Given the description of an element on the screen output the (x, y) to click on. 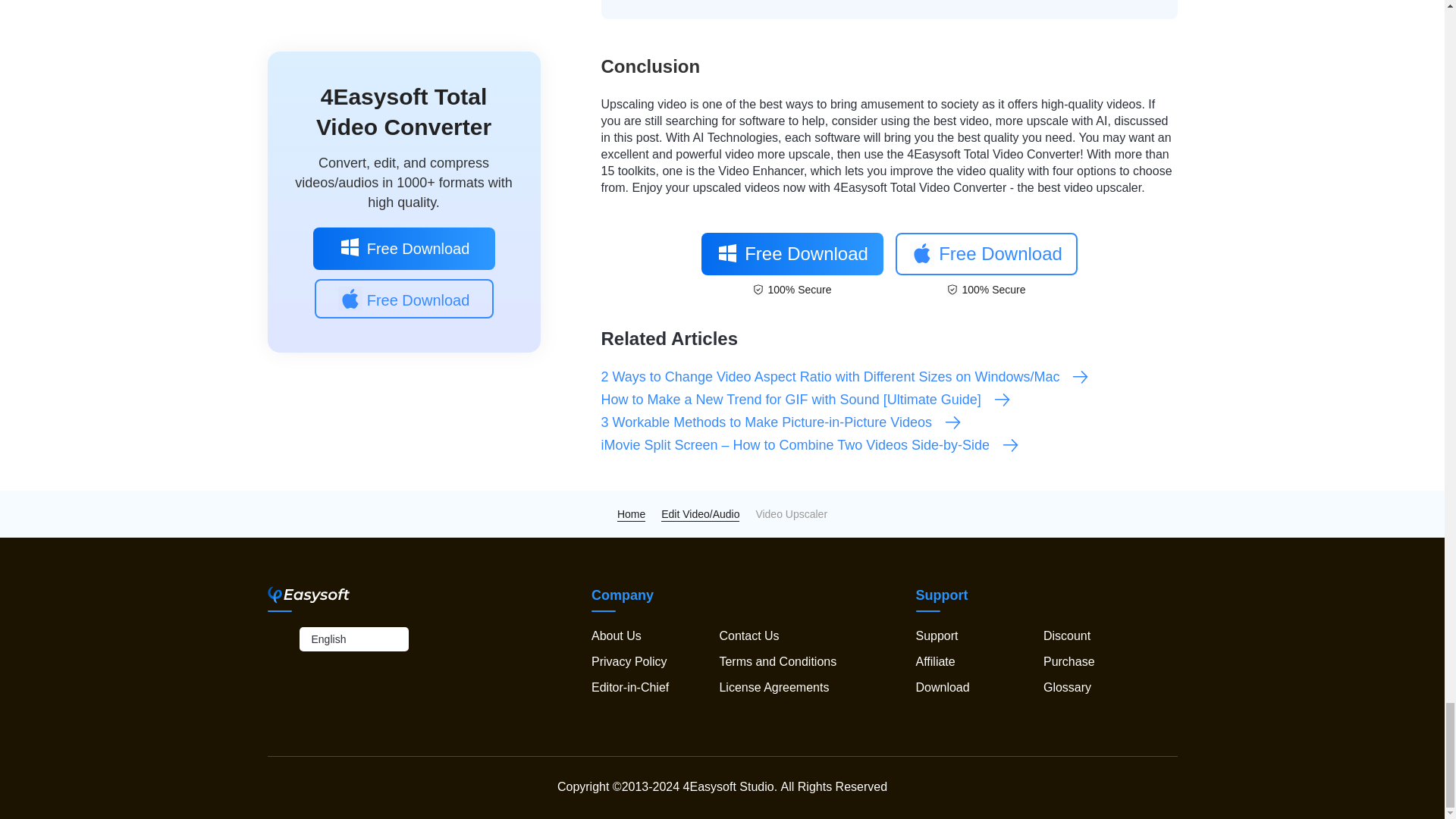
3 Workable Methods to Make Picture-in-Picture Videos (780, 422)
Free Download (986, 253)
Free Download (791, 253)
Home (631, 513)
